Given the description of an element on the screen output the (x, y) to click on. 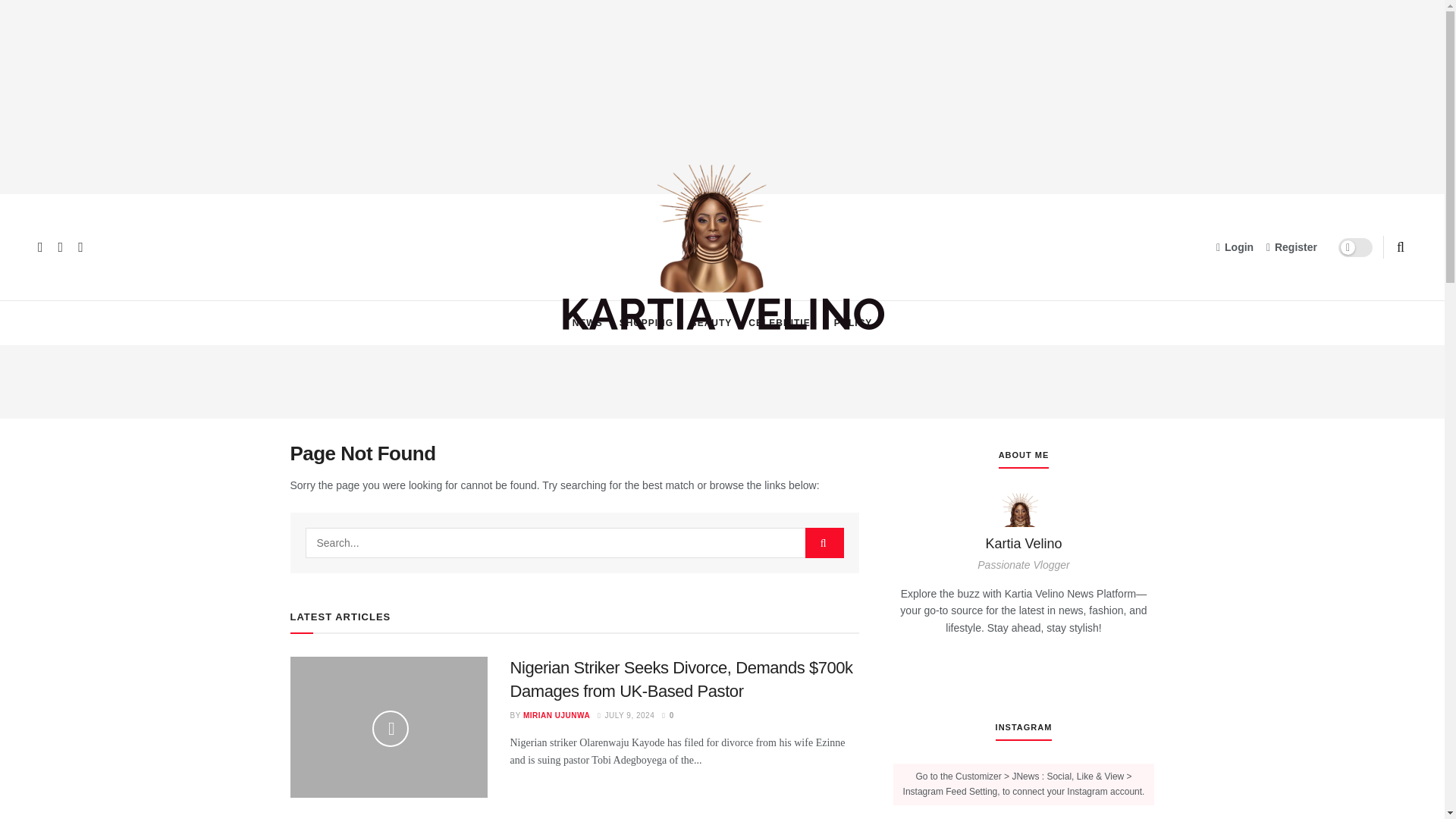
SHOPPING (646, 322)
MIRIAN UJUNWA (555, 715)
Register (1291, 247)
0 (668, 715)
CELEBRITIES (782, 322)
JULY 9, 2024 (624, 715)
Login (1234, 247)
BEAUTY (711, 322)
